Given the description of an element on the screen output the (x, y) to click on. 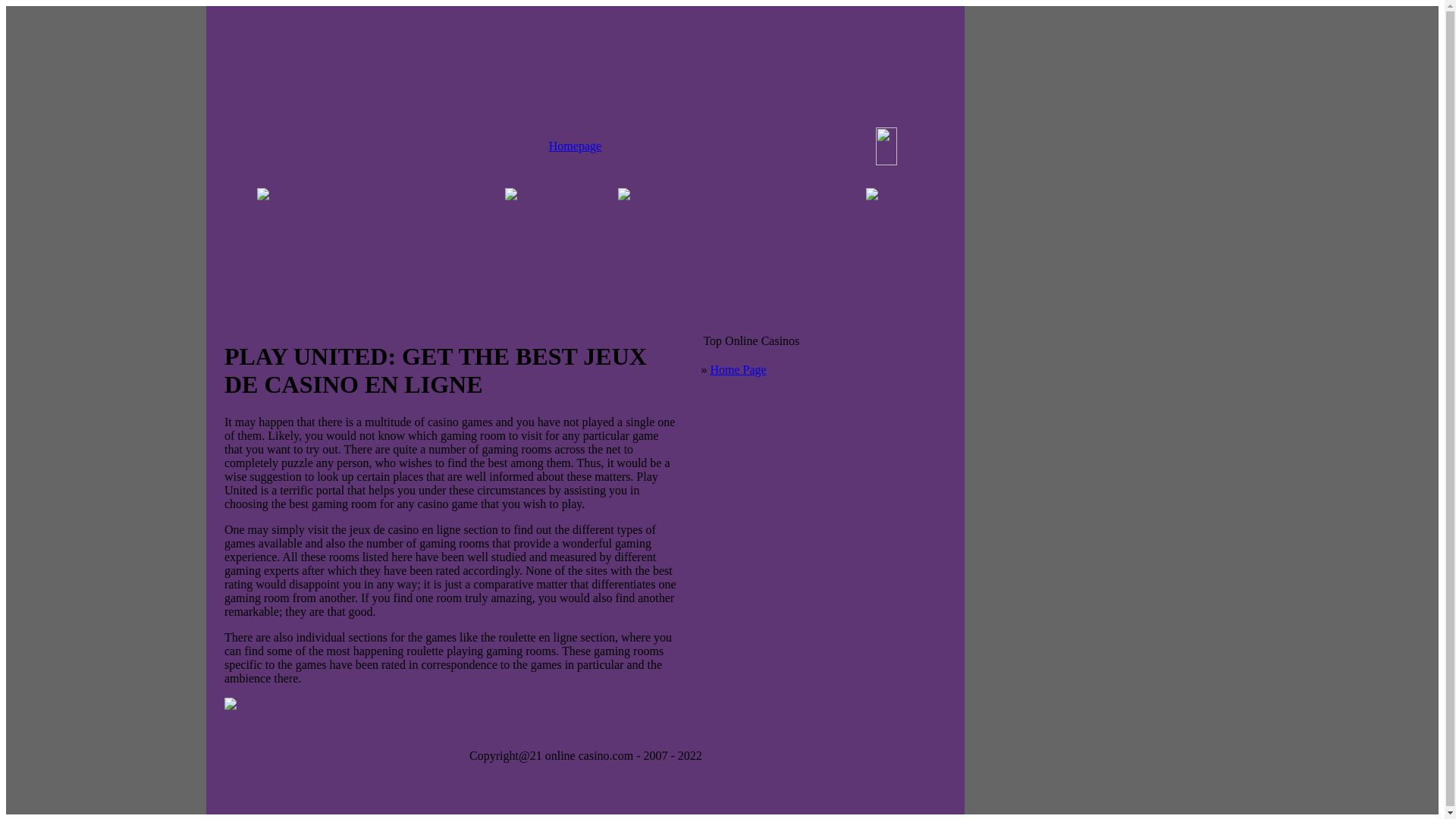
Home Page Element type: text (737, 369)
Homepage Element type: text (575, 145)
